Given the description of an element on the screen output the (x, y) to click on. 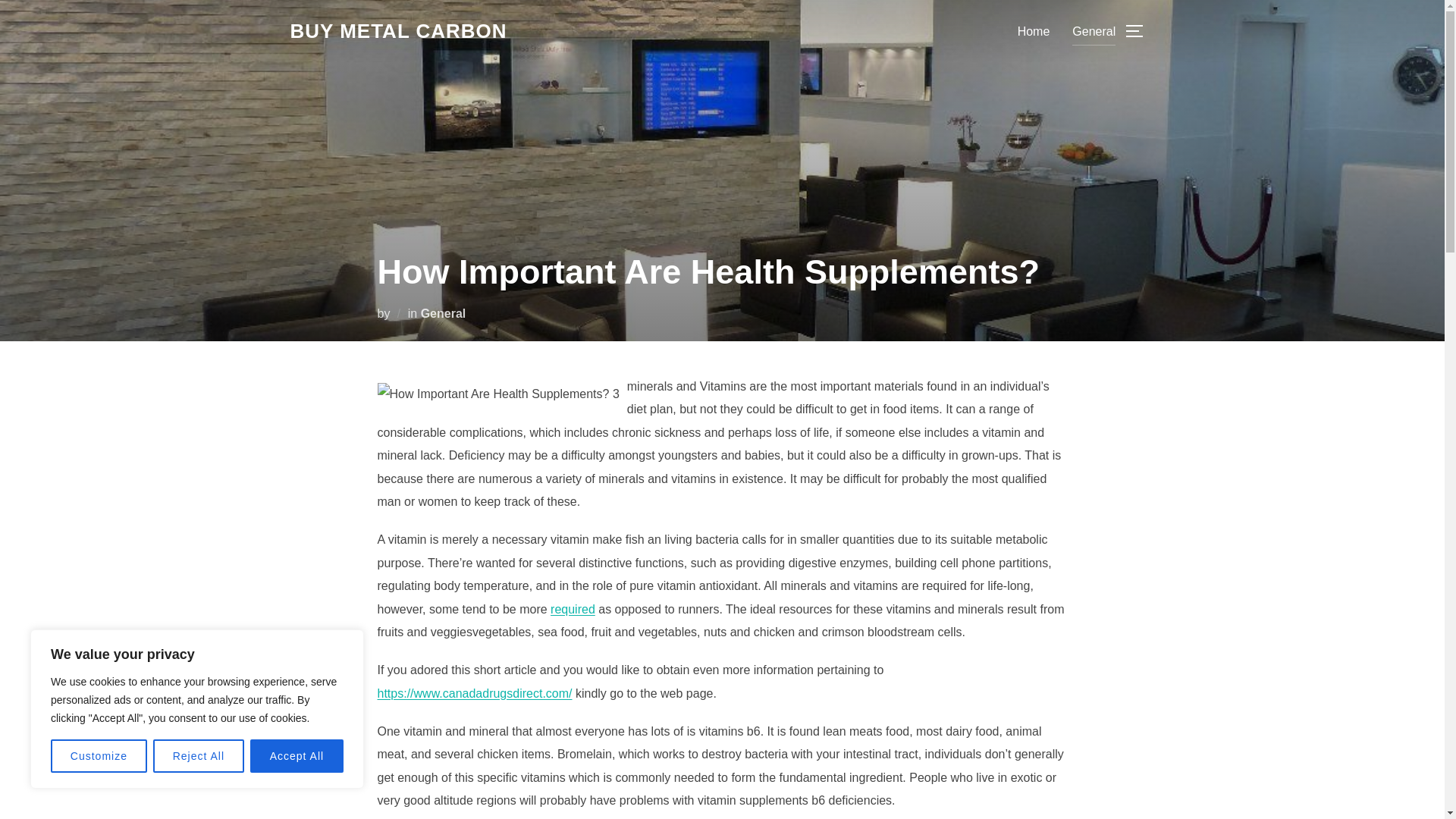
Reject All (198, 756)
BUY METAL CARBON (397, 31)
Customize (98, 756)
Blog (397, 31)
Home (1033, 30)
General (1093, 30)
Accept All (296, 756)
